Given the description of an element on the screen output the (x, y) to click on. 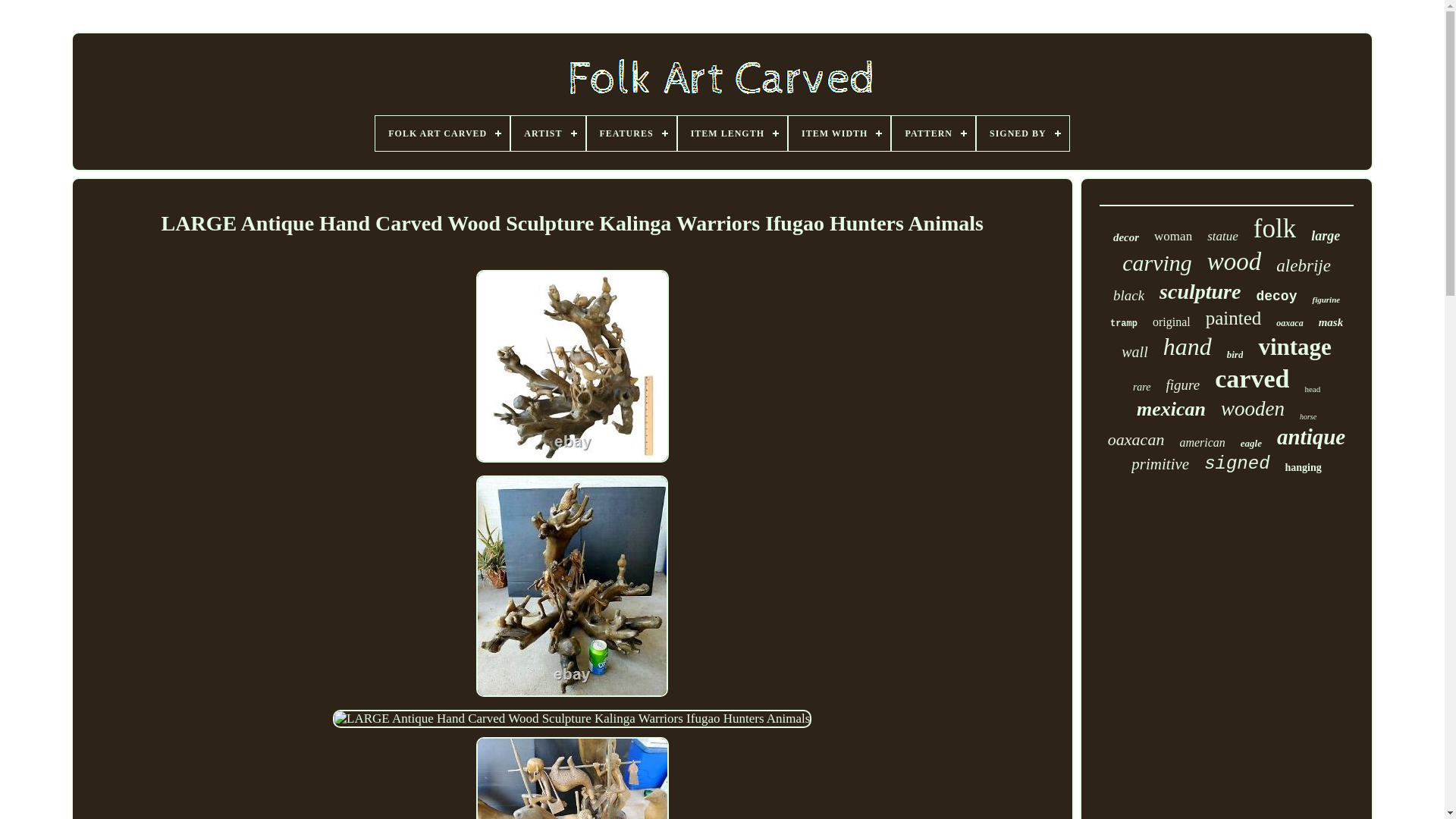
ARTIST (548, 133)
FOLK ART CARVED (442, 133)
FEATURES (631, 133)
